Given the description of an element on the screen output the (x, y) to click on. 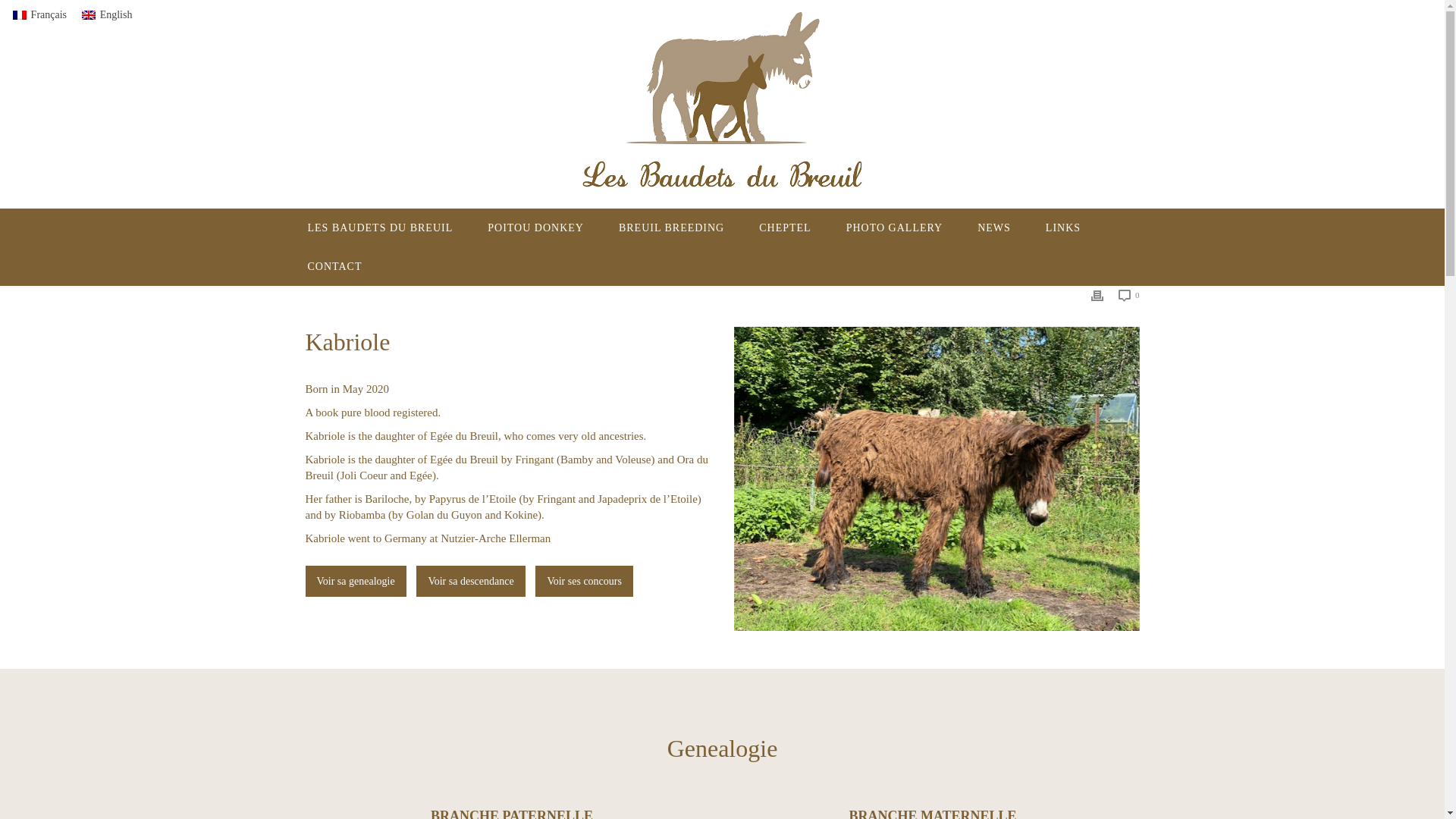
PHOTO GALLERY (893, 227)
Les Baudets du Breuil (722, 104)
CONTACT (333, 266)
LES BAUDETS DU BREUIL (379, 227)
CHEPTEL (784, 227)
PHOTO GALLERY (893, 227)
POITOU DONKEY (535, 227)
CONTACT (333, 266)
LINKS (1062, 227)
BREUIL BREEDING (671, 227)
LES BAUDETS DU BREUIL (379, 227)
LINKS (1062, 227)
NEWS (993, 227)
NEWS (993, 227)
BREUIL BREEDING (671, 227)
